Given the description of an element on the screen output the (x, y) to click on. 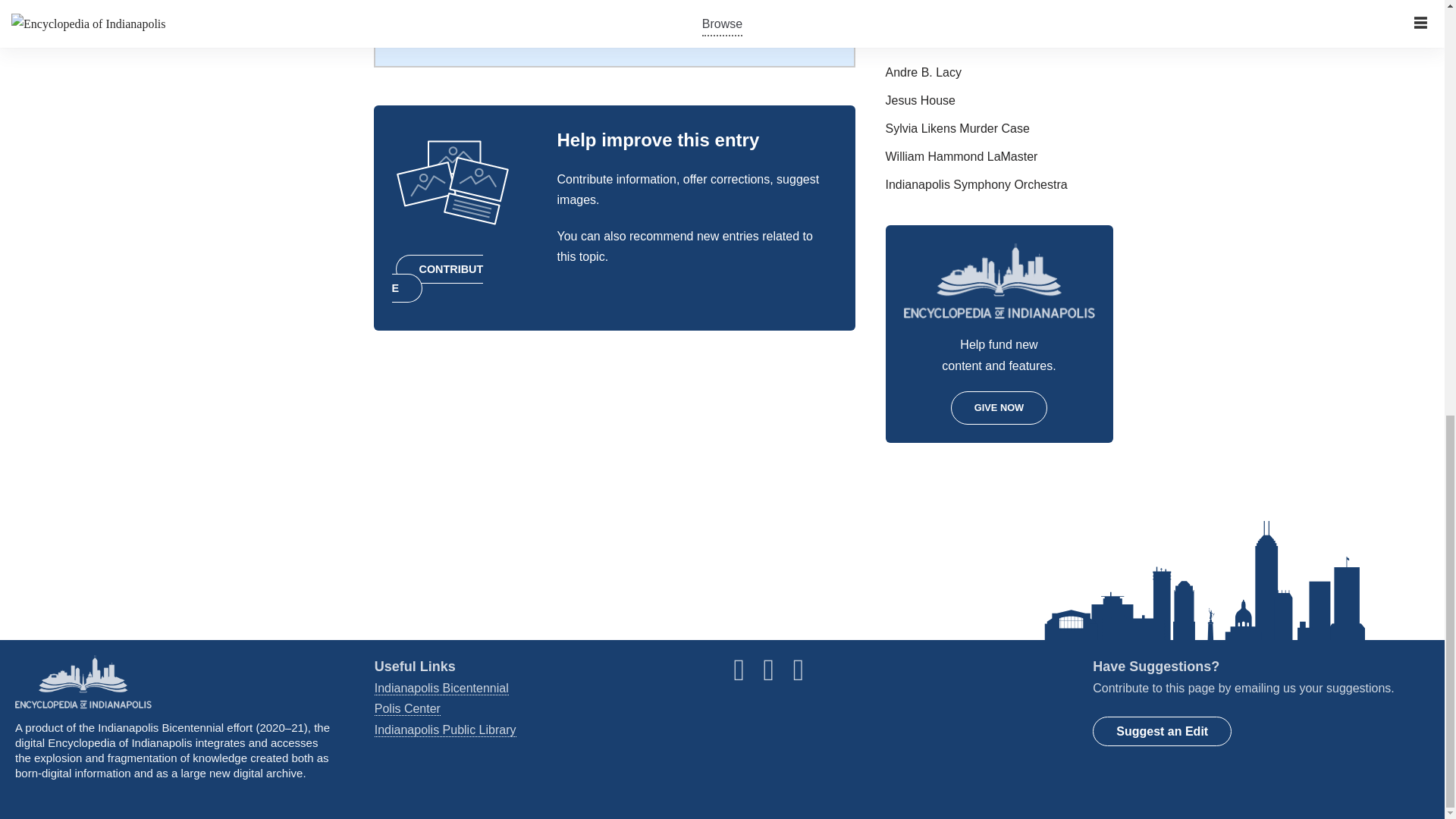
Indy Encyclopedia - Facebook (746, 675)
Indy Encyclopedia - Instagram (776, 675)
CONTRIBUTE (437, 278)
